Given the description of an element on the screen output the (x, y) to click on. 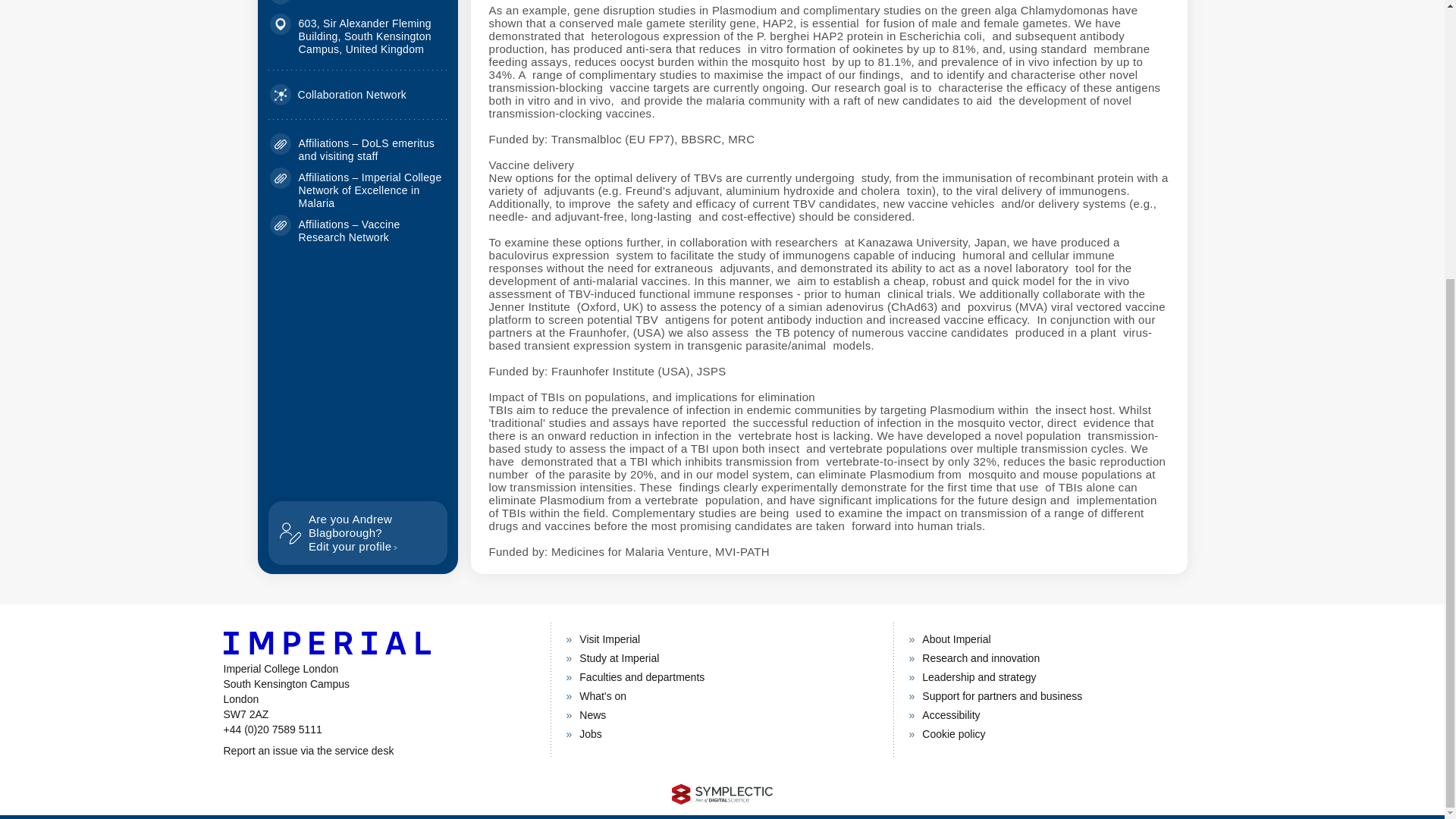
Symplectic, part of Digital Science (722, 793)
Report an issue via the service desk (378, 750)
Symplectic, part of Digital Science (722, 793)
Collaboration Network (338, 94)
